Given the description of an element on the screen output the (x, y) to click on. 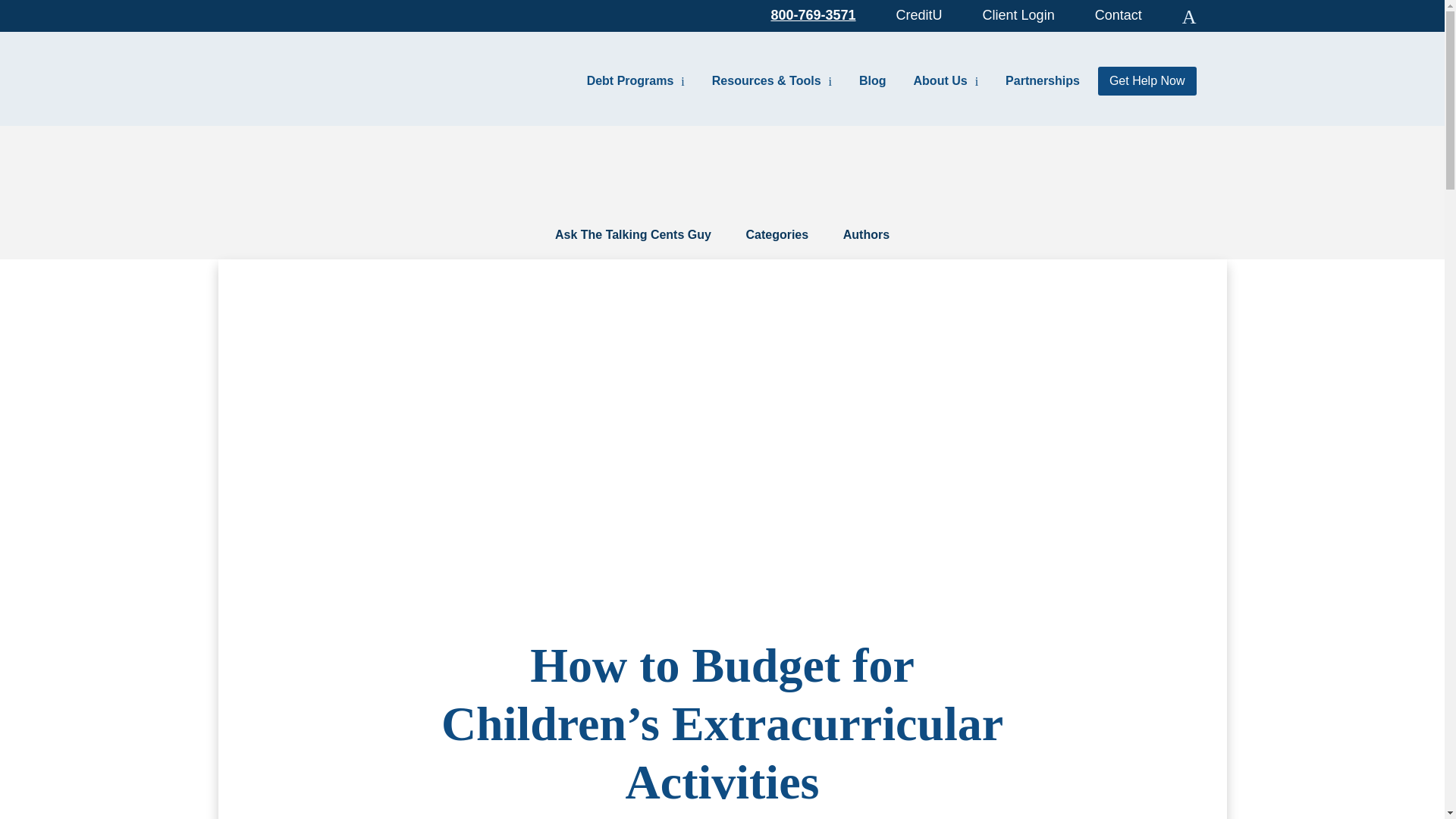
CreditU (919, 14)
Debt Programs (635, 80)
Contact (1117, 14)
Client Login (1018, 14)
800-769-3571 (813, 14)
